Given the description of an element on the screen output the (x, y) to click on. 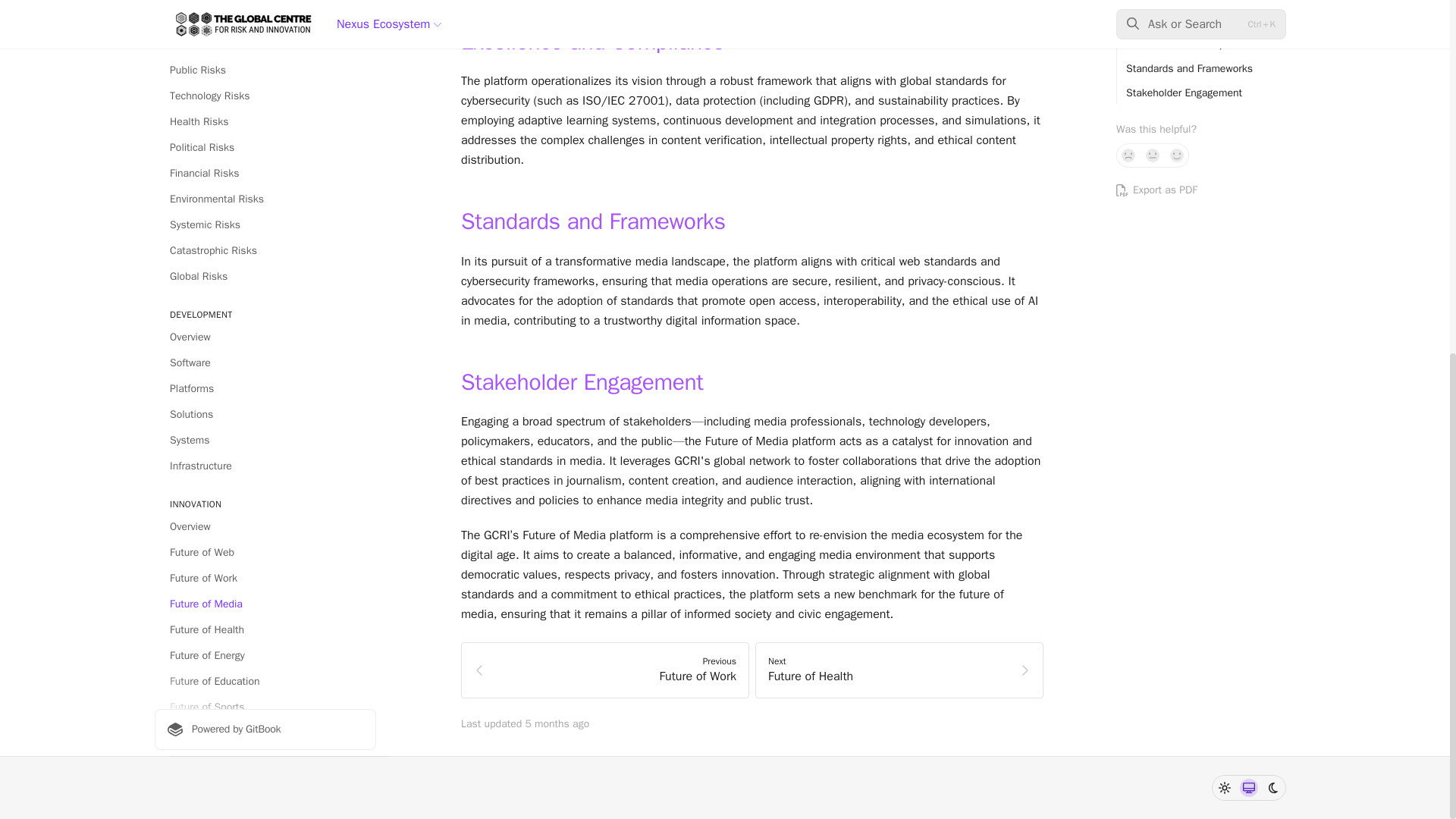
Integrated Risk Assessments (264, 338)
Overview (264, 425)
Future of Media (264, 46)
Powered by GitBook (264, 170)
Overview (264, 485)
Future of Society (264, 226)
Future of Finance (264, 200)
Future of Education (264, 123)
Future of Work (264, 20)
Overview (264, 287)
Future of Space (264, 174)
Integrated Impact Assessments (264, 313)
Future of Energy (264, 97)
Future of Web (264, 3)
